Given the description of an element on the screen output the (x, y) to click on. 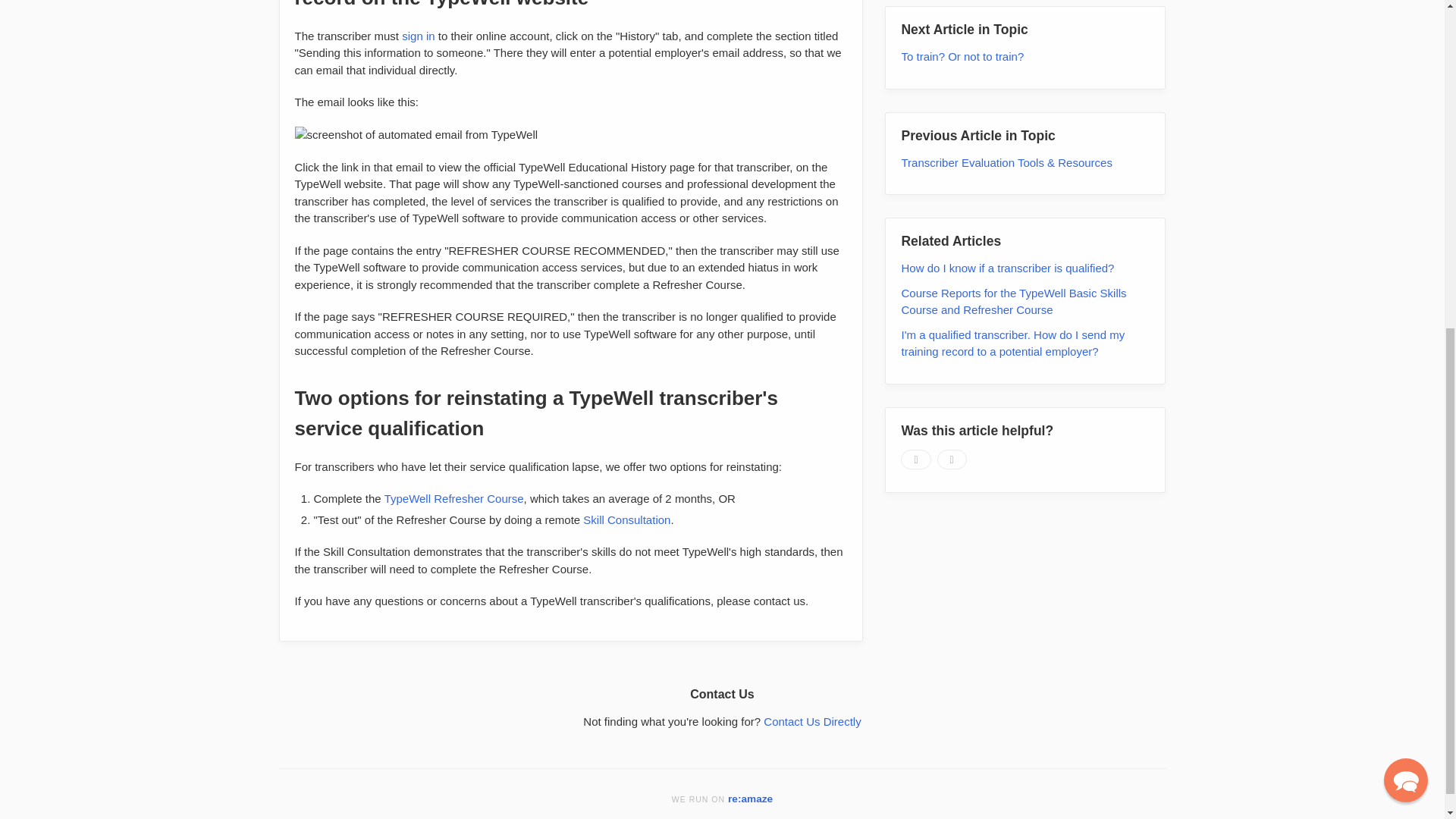
Skill Consultation (626, 519)
Contact Us Directly (811, 721)
sign in (417, 35)
TypeWell Refresher Course (454, 498)
How do I know if a transcriber is qualified? (1007, 70)
re:amaze (750, 798)
